Given the description of an element on the screen output the (x, y) to click on. 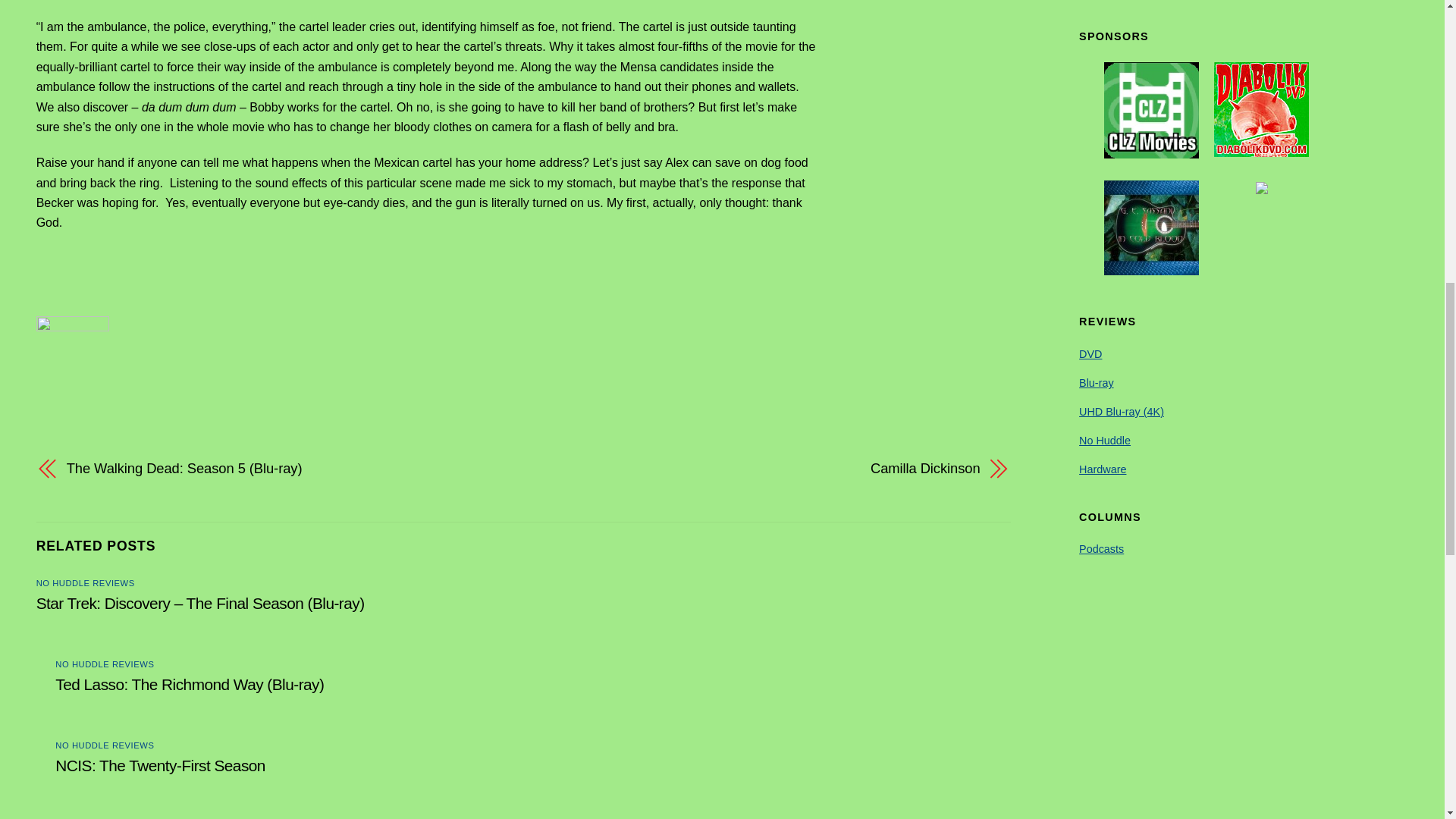
Hardware (1101, 469)
Podcasts (1101, 548)
NCIS: The Twenty-First Season (159, 764)
Blu-ray (1095, 382)
DVD (1090, 354)
NCIS: The Twenty-First Season (159, 764)
NO HUDDLE REVIEWS (85, 583)
NO HUDDLE REVIEWS (104, 745)
No Huddle (1104, 440)
NO HUDDLE REVIEWS (104, 664)
